Given the description of an element on the screen output the (x, y) to click on. 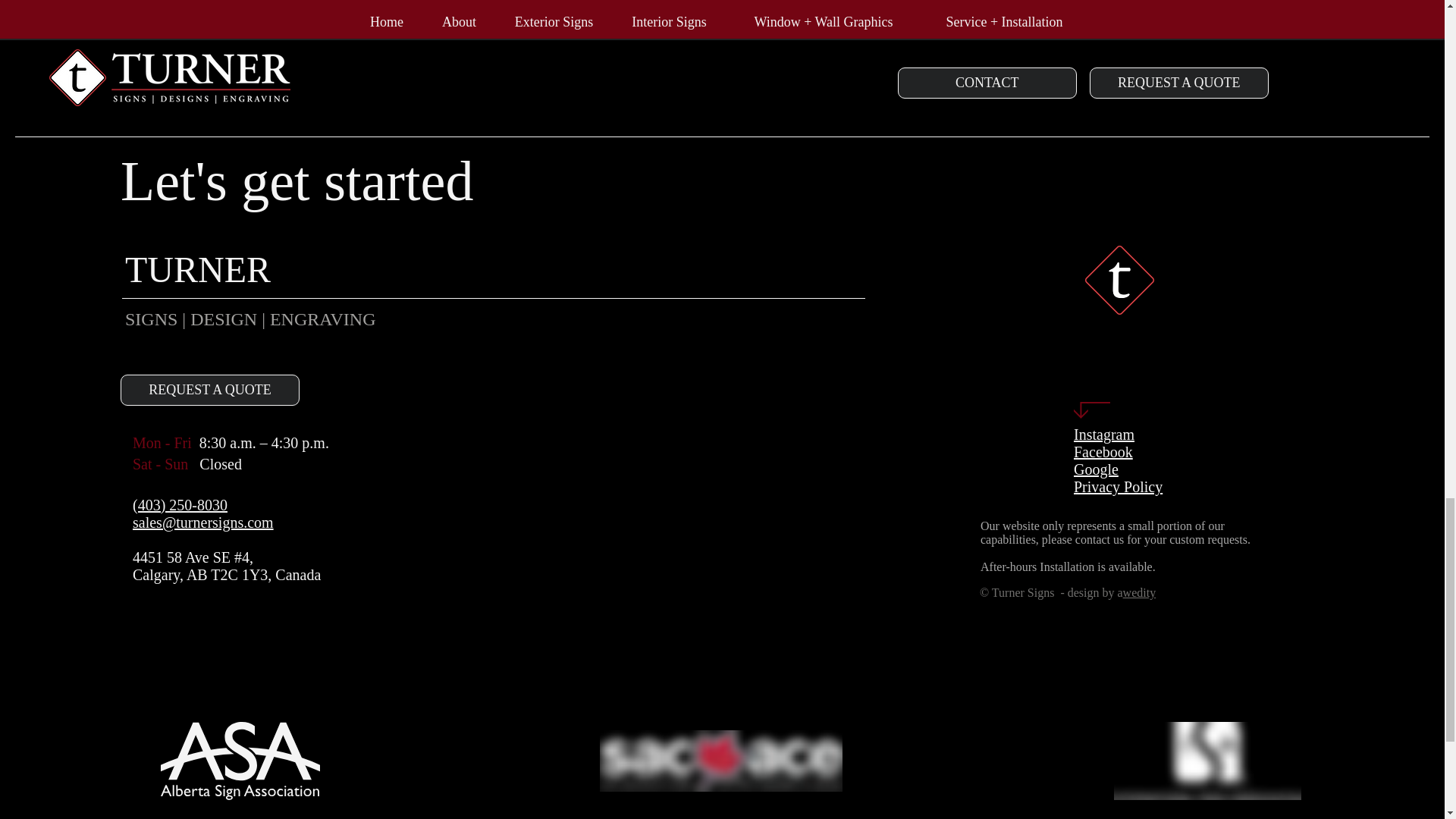
Sign Association of Canada Member (721, 760)
International Sign Association Member (1207, 760)
wedity (1139, 592)
TURNER  (202, 269)
Turner Signs Logo (1119, 280)
Google (1096, 469)
REQUEST A QUOTE (209, 389)
Privacy Policy (1117, 486)
Facebook (1103, 451)
Instagram (1104, 434)
